Given the description of an element on the screen output the (x, y) to click on. 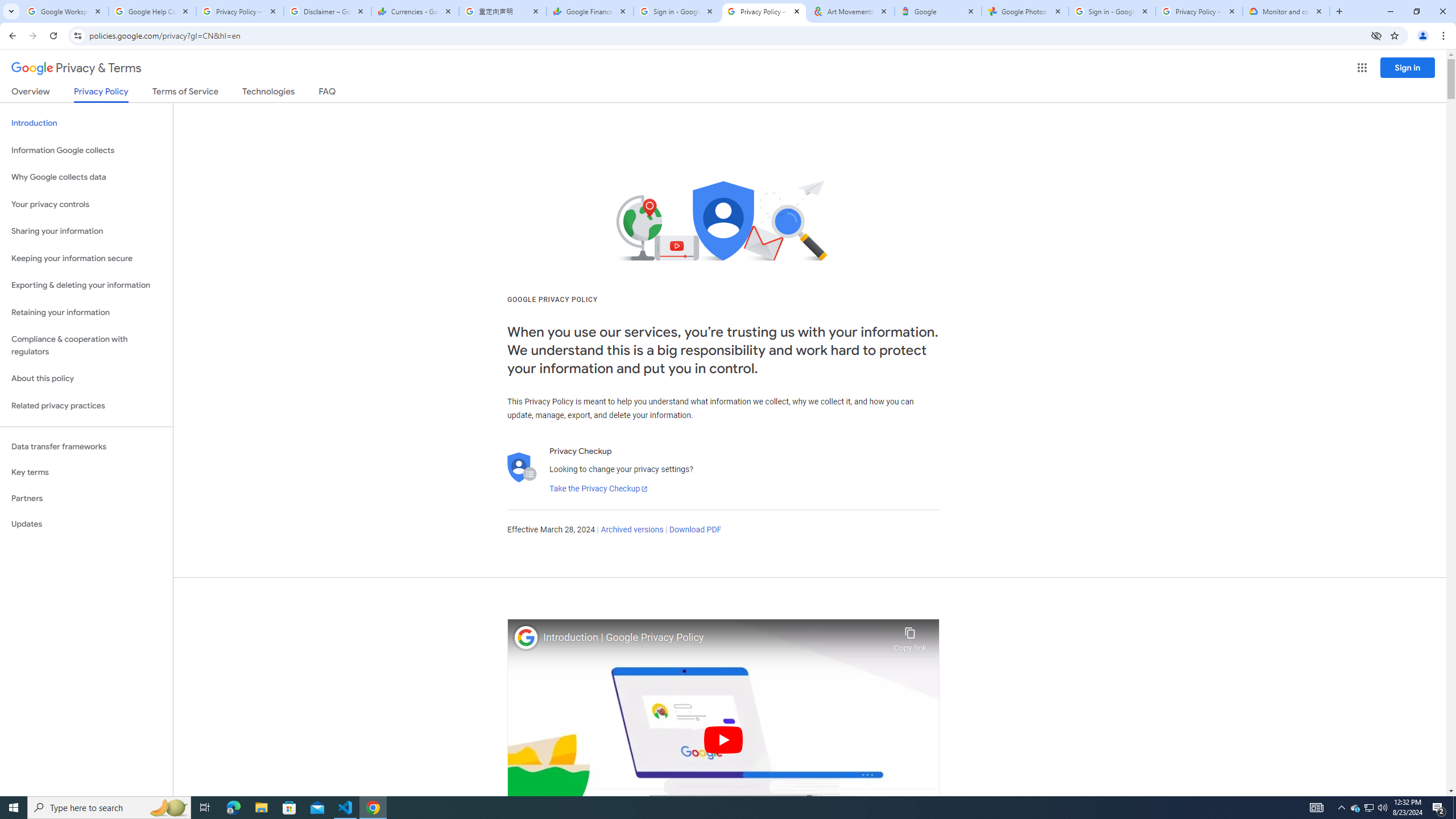
Key terms (86, 472)
Introduction | Google Privacy Policy (715, 637)
Download PDF (695, 529)
About this policy (86, 379)
Google Workspace Admin Community (64, 11)
